Given the description of an element on the screen output the (x, y) to click on. 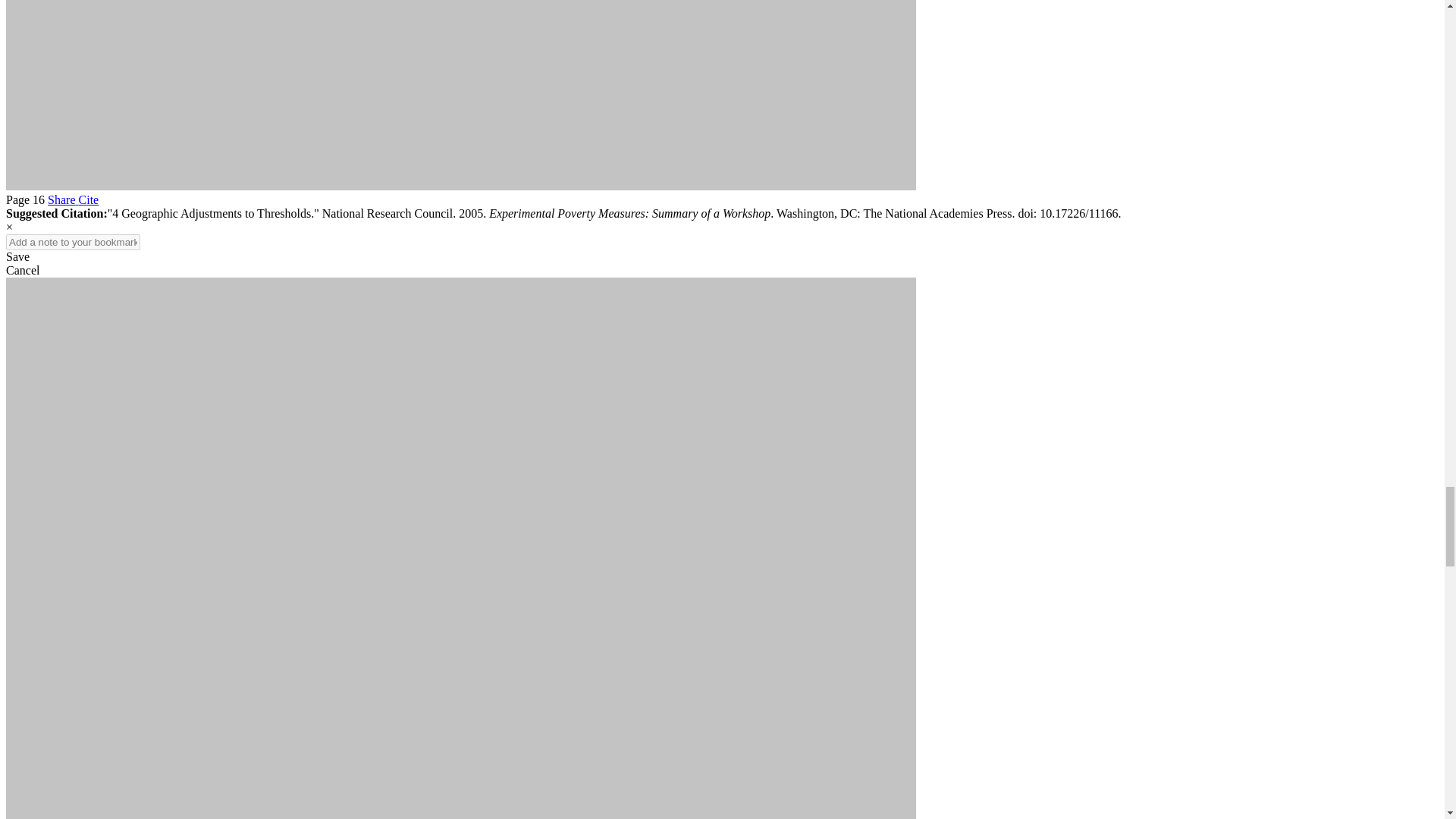
Cite this page (88, 199)
Share this page (63, 199)
